Given the description of an element on the screen output the (x, y) to click on. 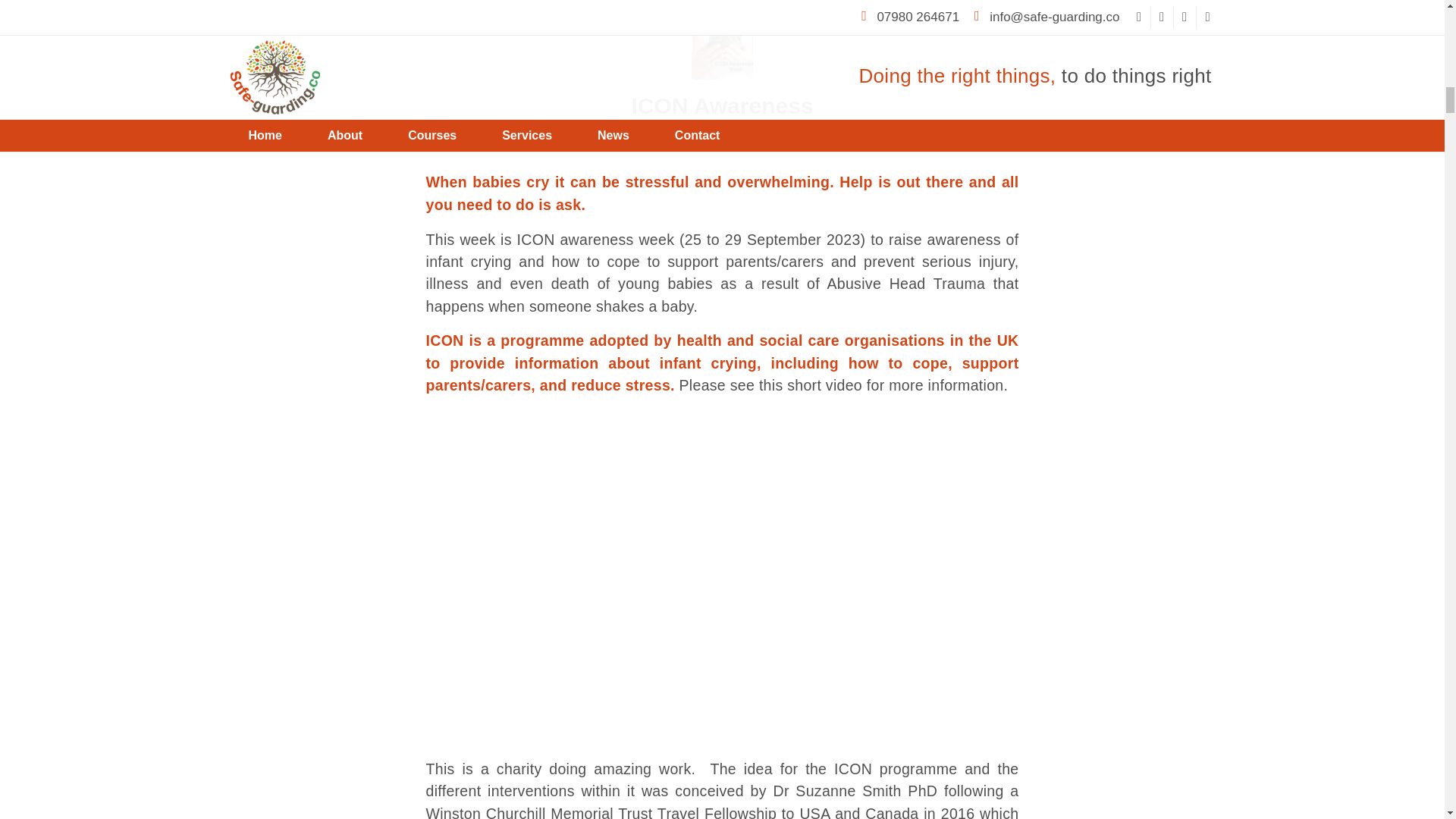
ICON Awareness (721, 105)
Permanent Link: ICON Awareness (721, 105)
ICON Awareness (721, 48)
